Given the description of an element on the screen output the (x, y) to click on. 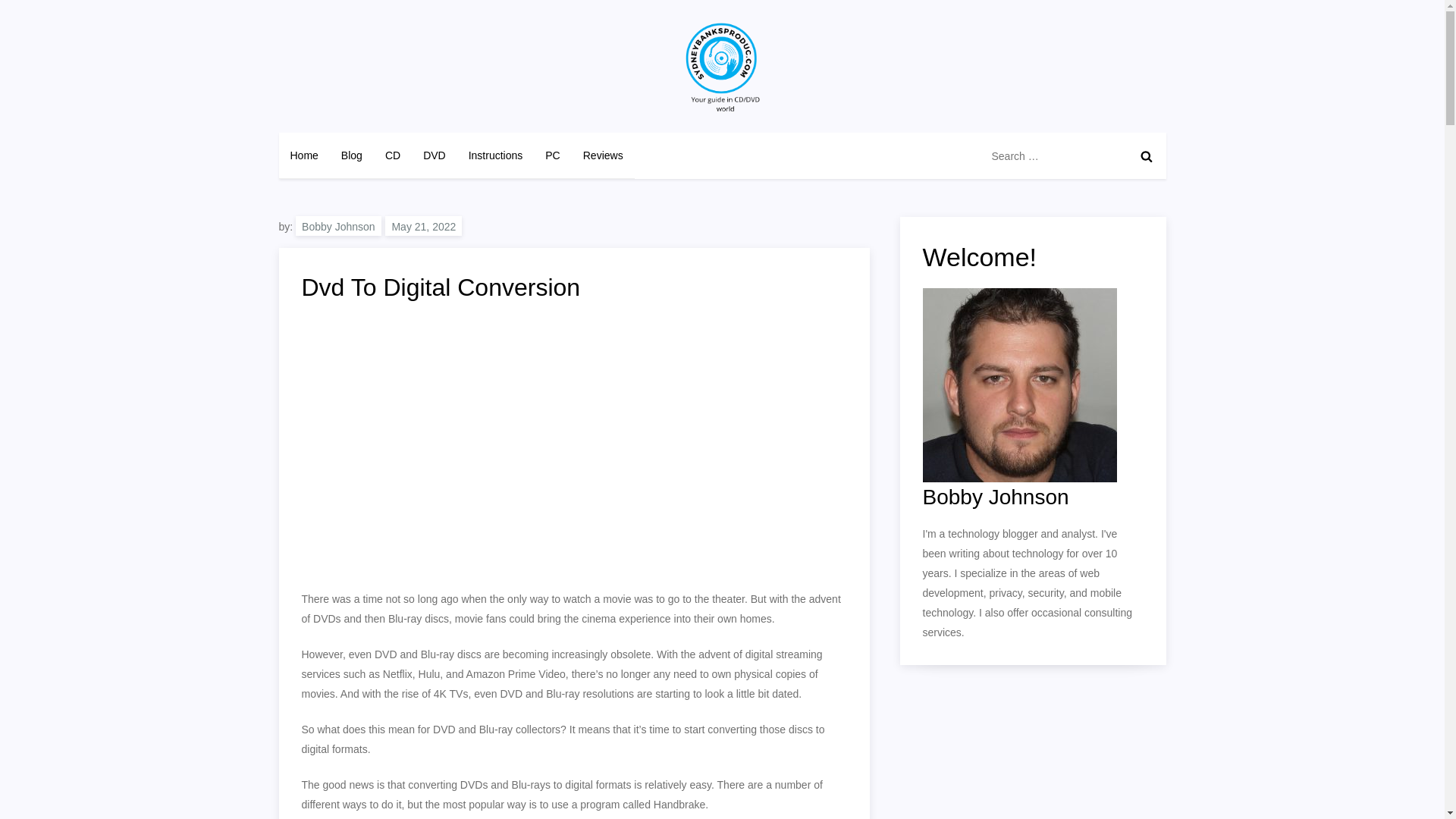
May 21, 2022 (423, 225)
DVD (434, 155)
Home (304, 155)
Blog (352, 155)
Instructions (495, 155)
Bobby Johnson (338, 225)
Sydneybanksproducts.com (427, 126)
Reviews (603, 155)
